Given the description of an element on the screen output the (x, y) to click on. 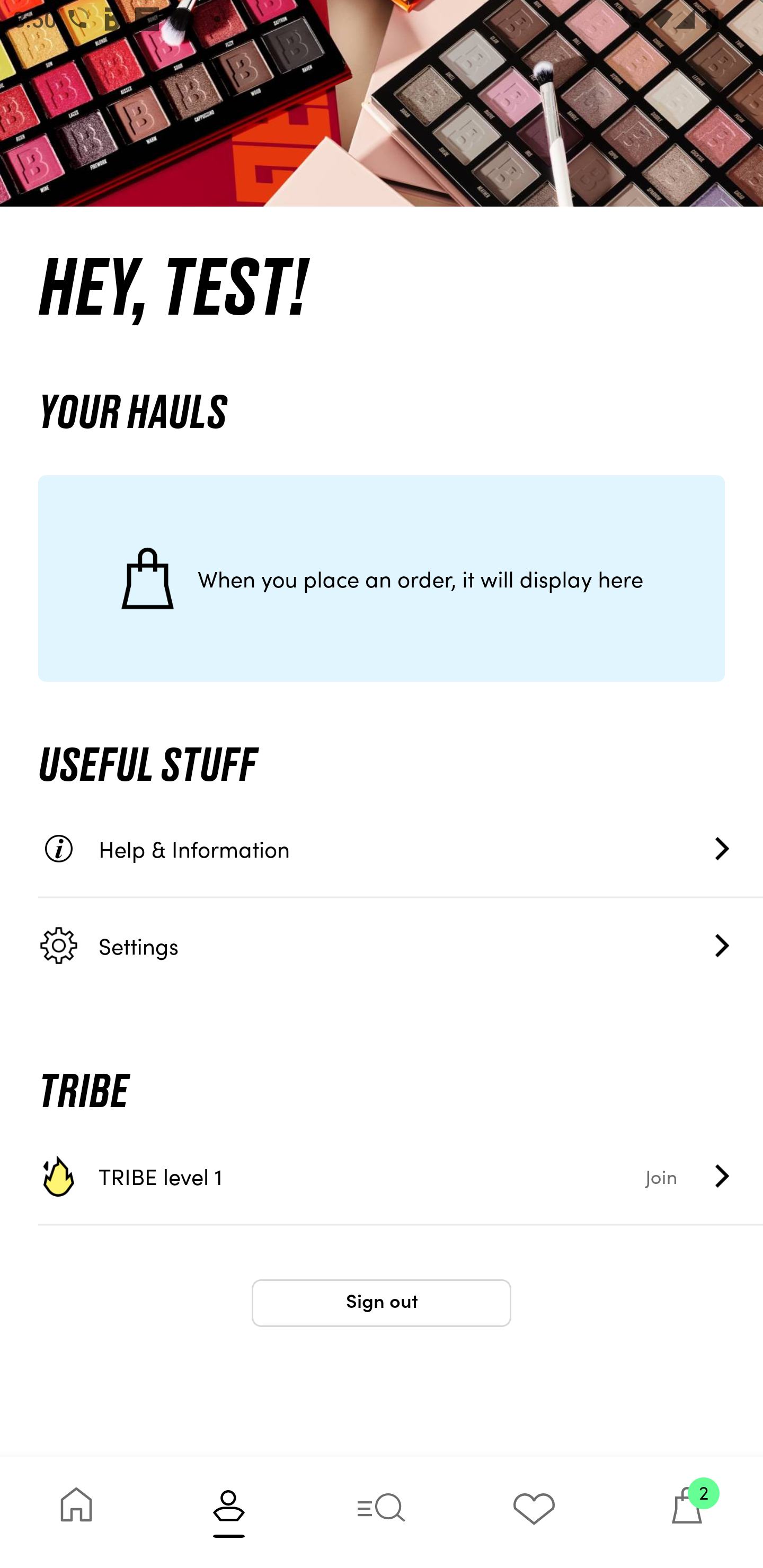
Help & Information (400, 848)
Settings (400, 945)
TRIBE level 1 Join (400, 1175)
Sign out (381, 1302)
2 (686, 1512)
